Given the description of an element on the screen output the (x, y) to click on. 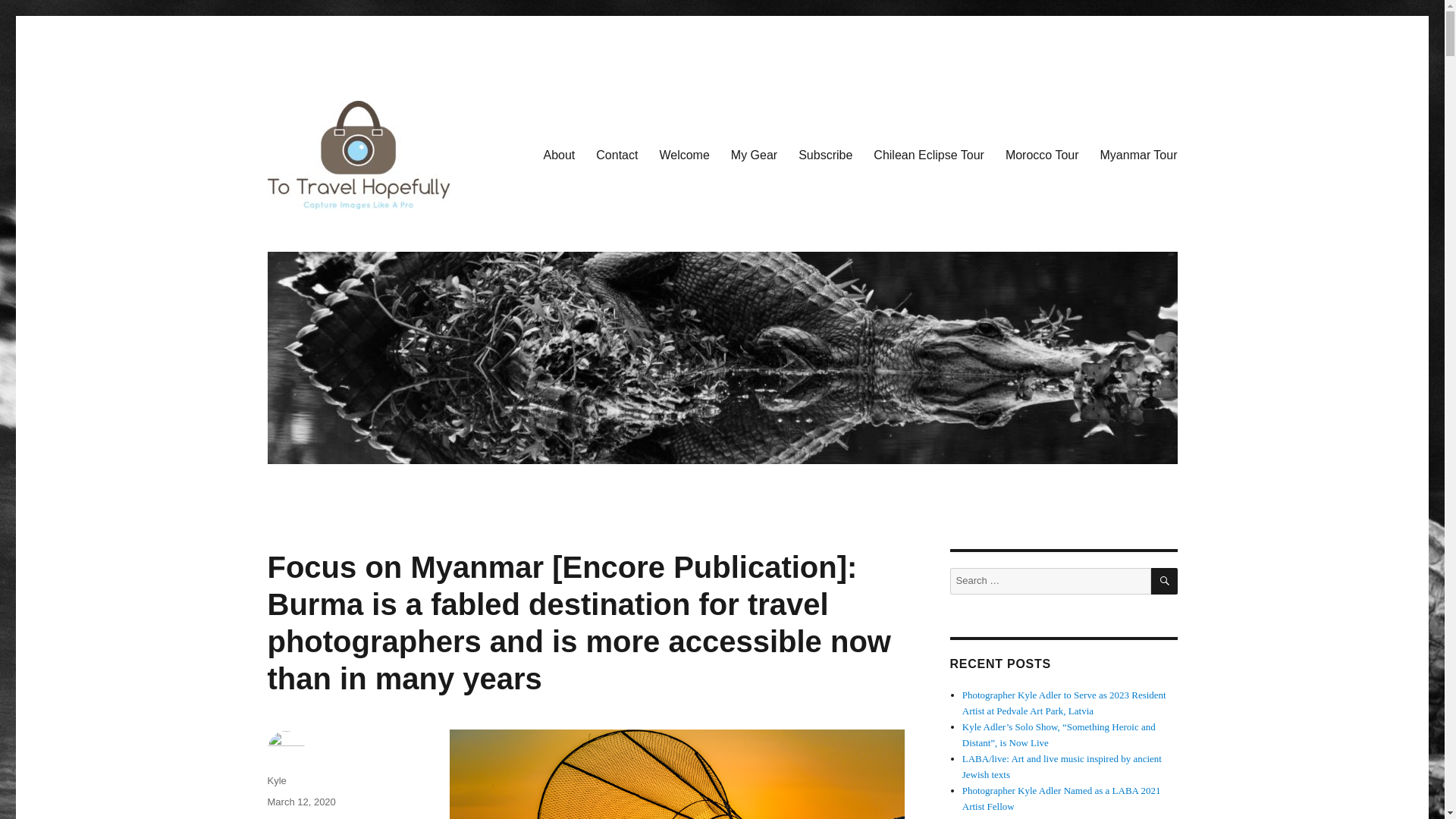
Myanmar Tour (1138, 155)
Contact (616, 155)
Chilean Eclipse Tour (928, 155)
Subscribe (825, 155)
Morocco Tour (1041, 155)
About (558, 155)
To Travel Hopefully (363, 232)
Welcome (683, 155)
My Gear (753, 155)
